Given the description of an element on the screen output the (x, y) to click on. 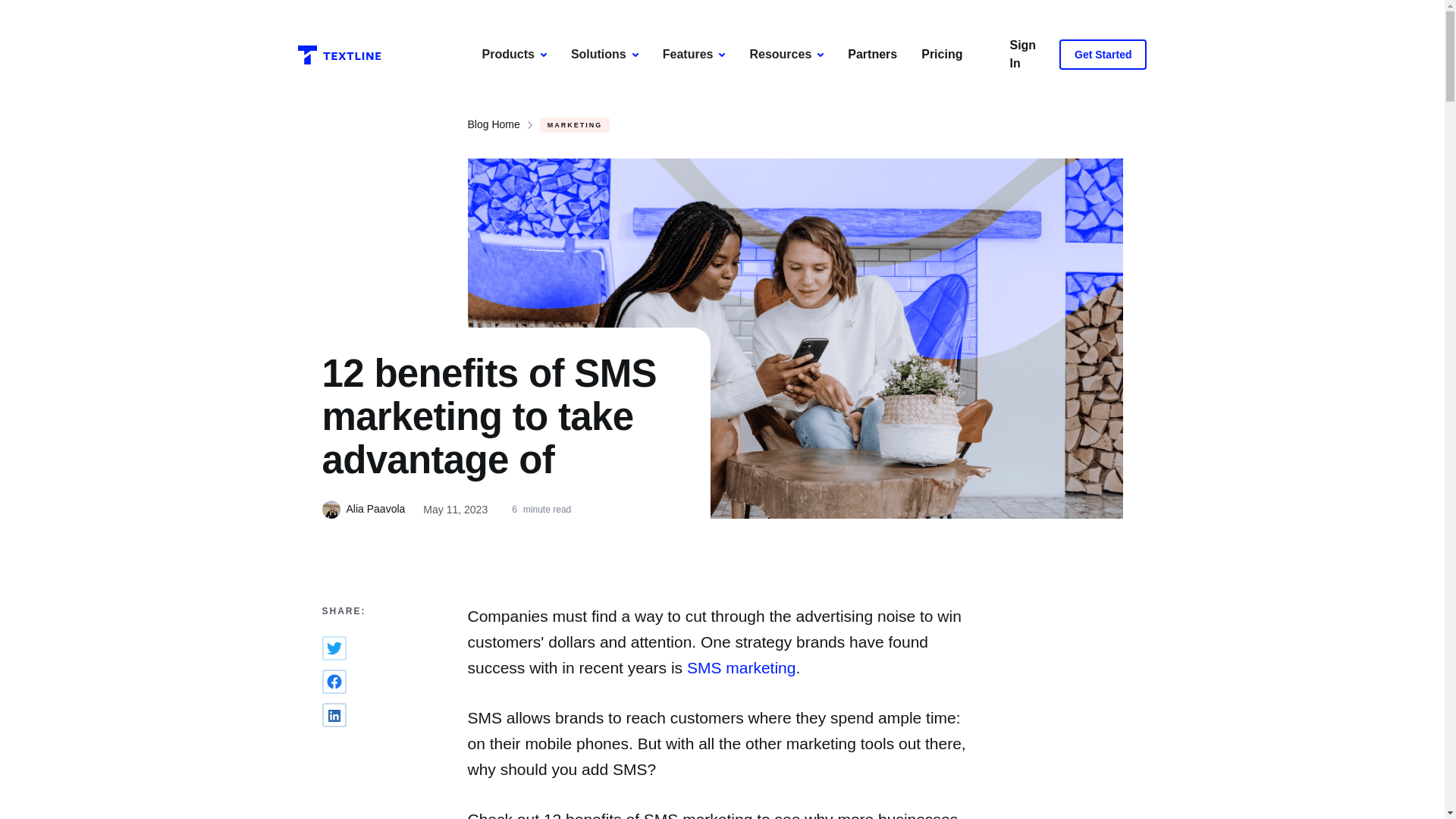
Share on LinkedIn (333, 714)
Tweet (333, 648)
Share on Facebook (333, 681)
